Given the description of an element on the screen output the (x, y) to click on. 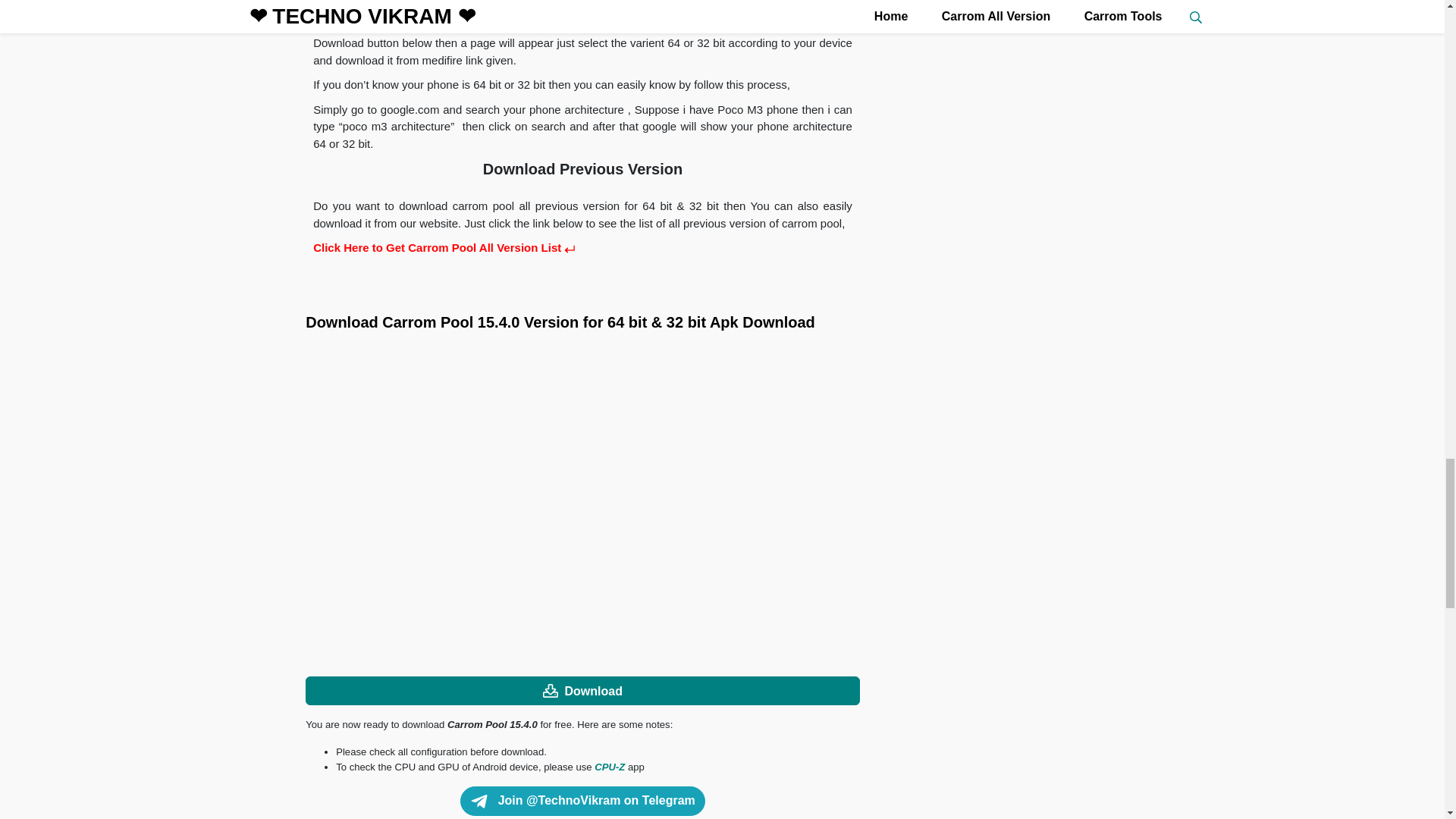
CPU-Z (609, 767)
Download (582, 690)
